Given the description of an element on the screen output the (x, y) to click on. 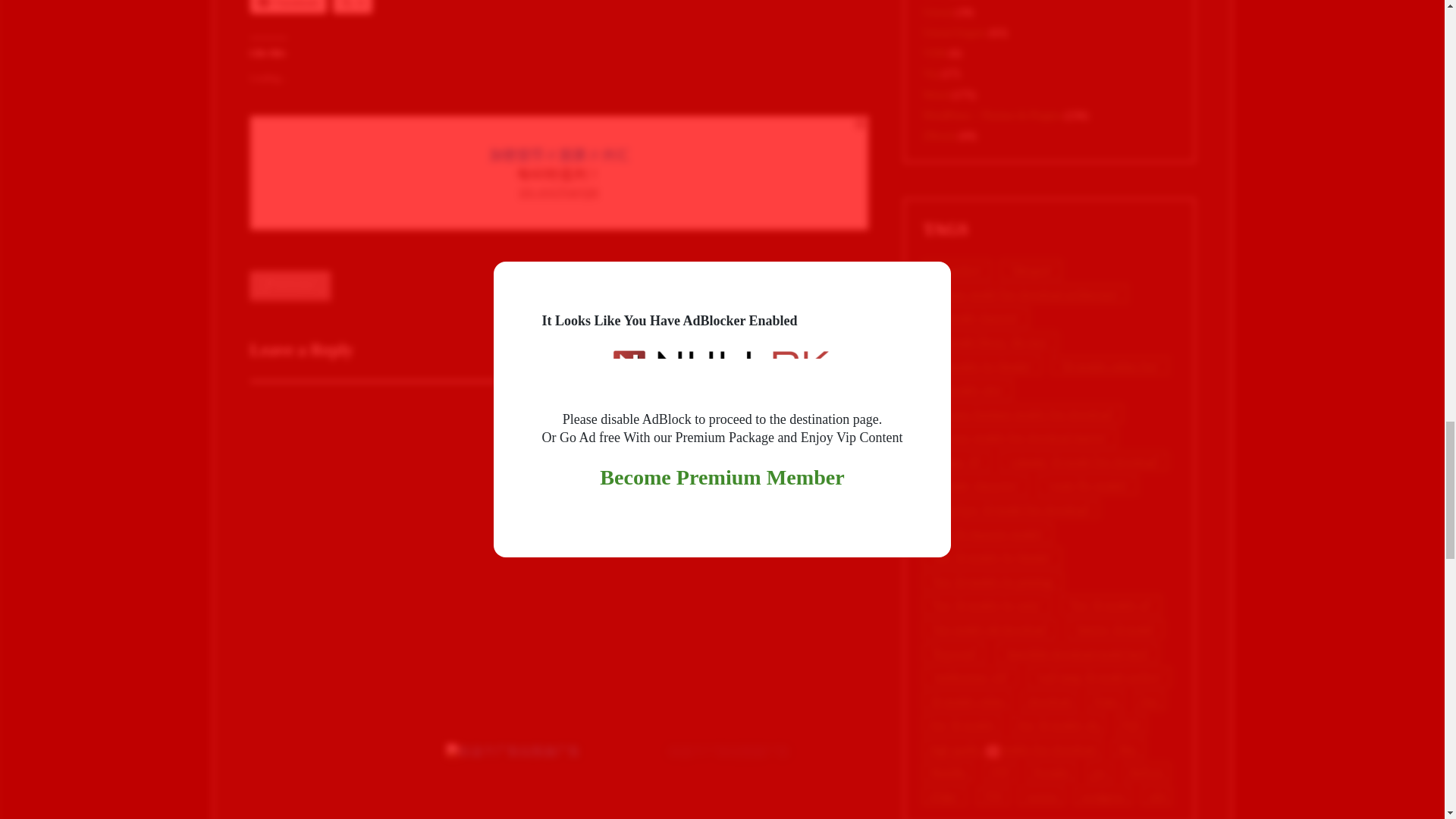
Next (837, 286)
X (352, 6)
Previous (290, 286)
Click to share on Facebook (288, 6)
Facebook (288, 6)
